Given the description of an element on the screen output the (x, y) to click on. 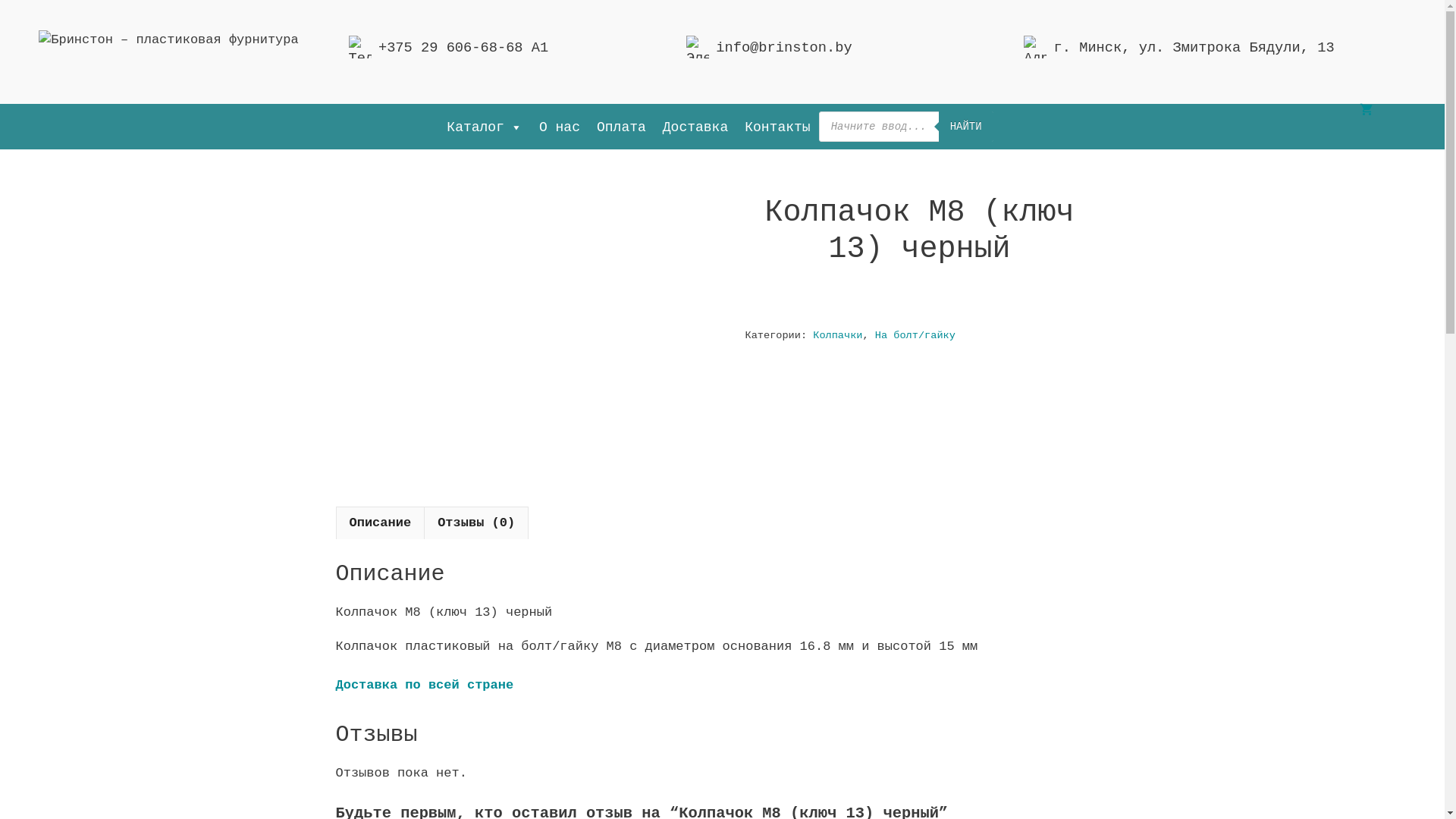
+375 29 606-68-68 A1 Element type: text (463, 47)
